Given the description of an element on the screen output the (x, y) to click on. 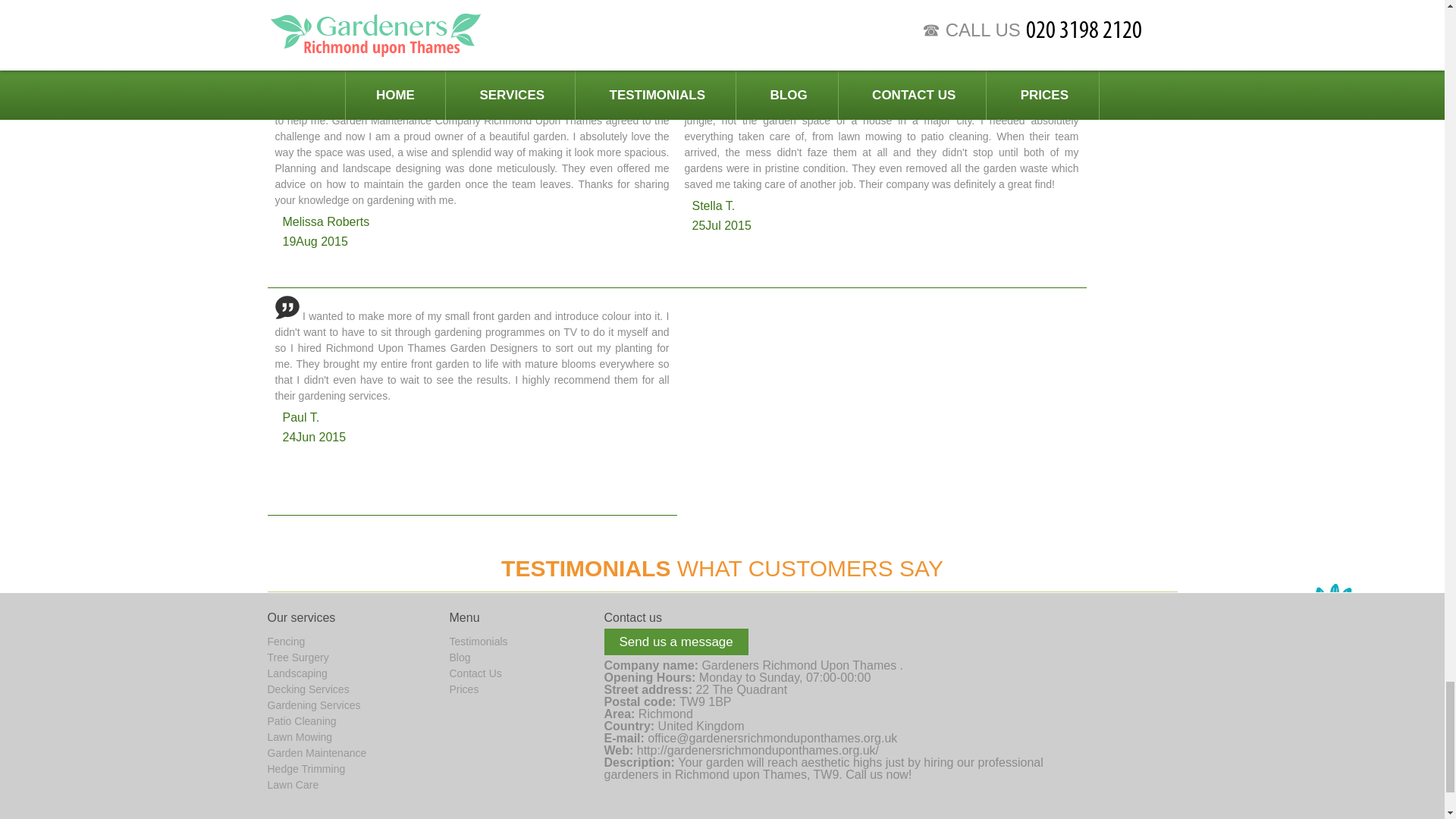
Send E-mail (771, 738)
